Given the description of an element on the screen output the (x, y) to click on. 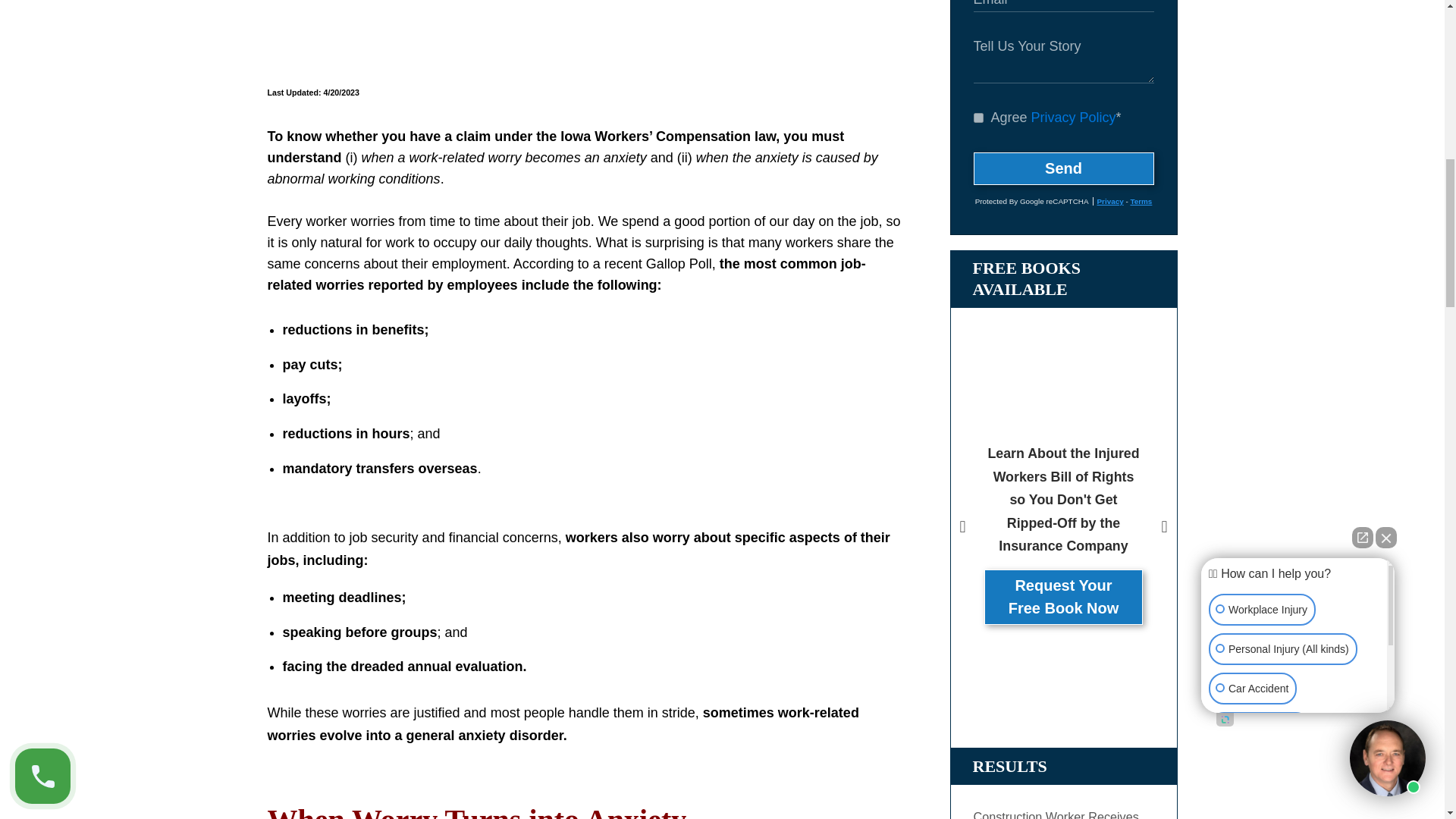
1 (979, 117)
